Given the description of an element on the screen output the (x, y) to click on. 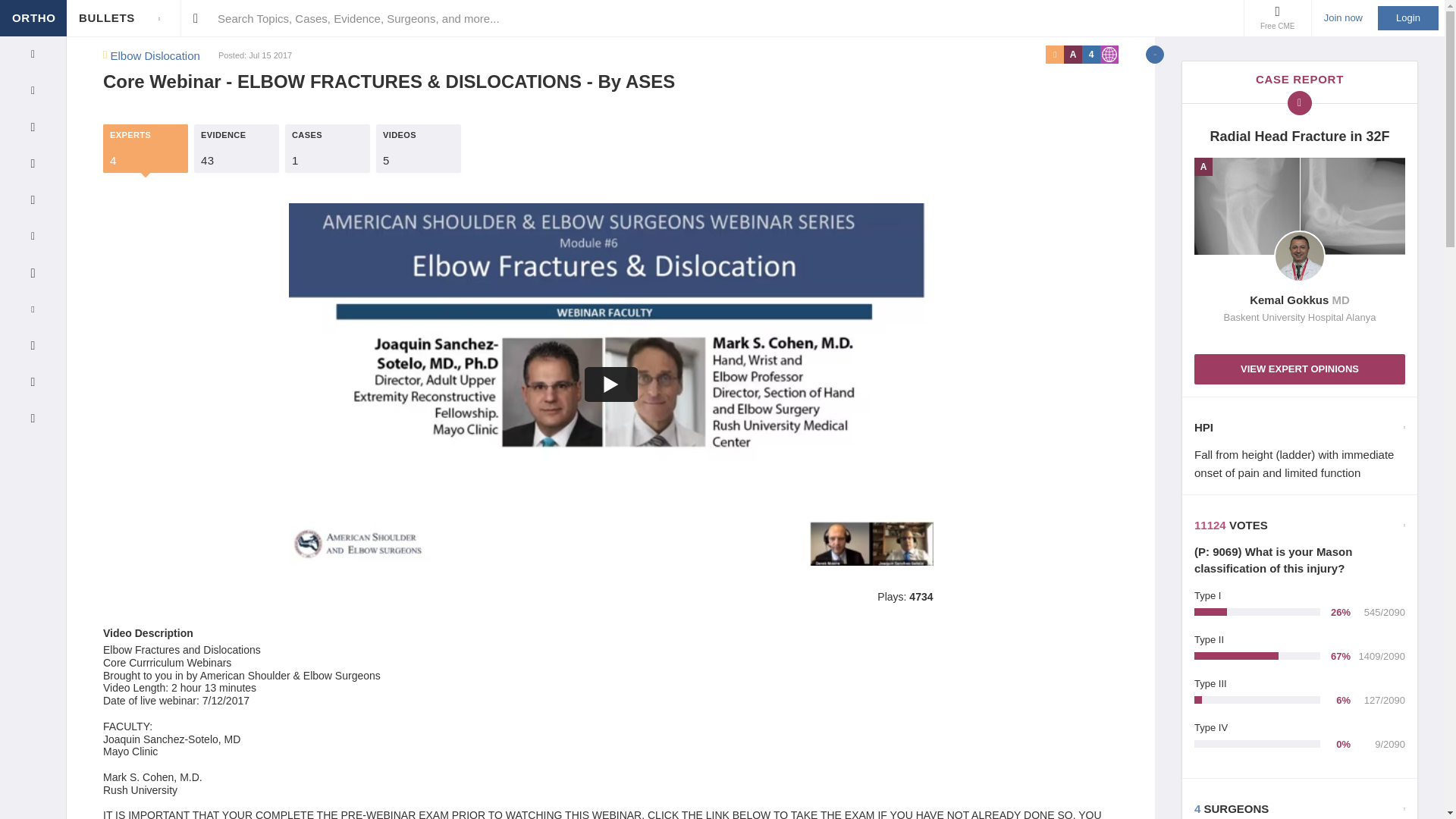
Free CME (1277, 18)
Login (73, 18)
Join now (1407, 17)
